Given the description of an element on the screen output the (x, y) to click on. 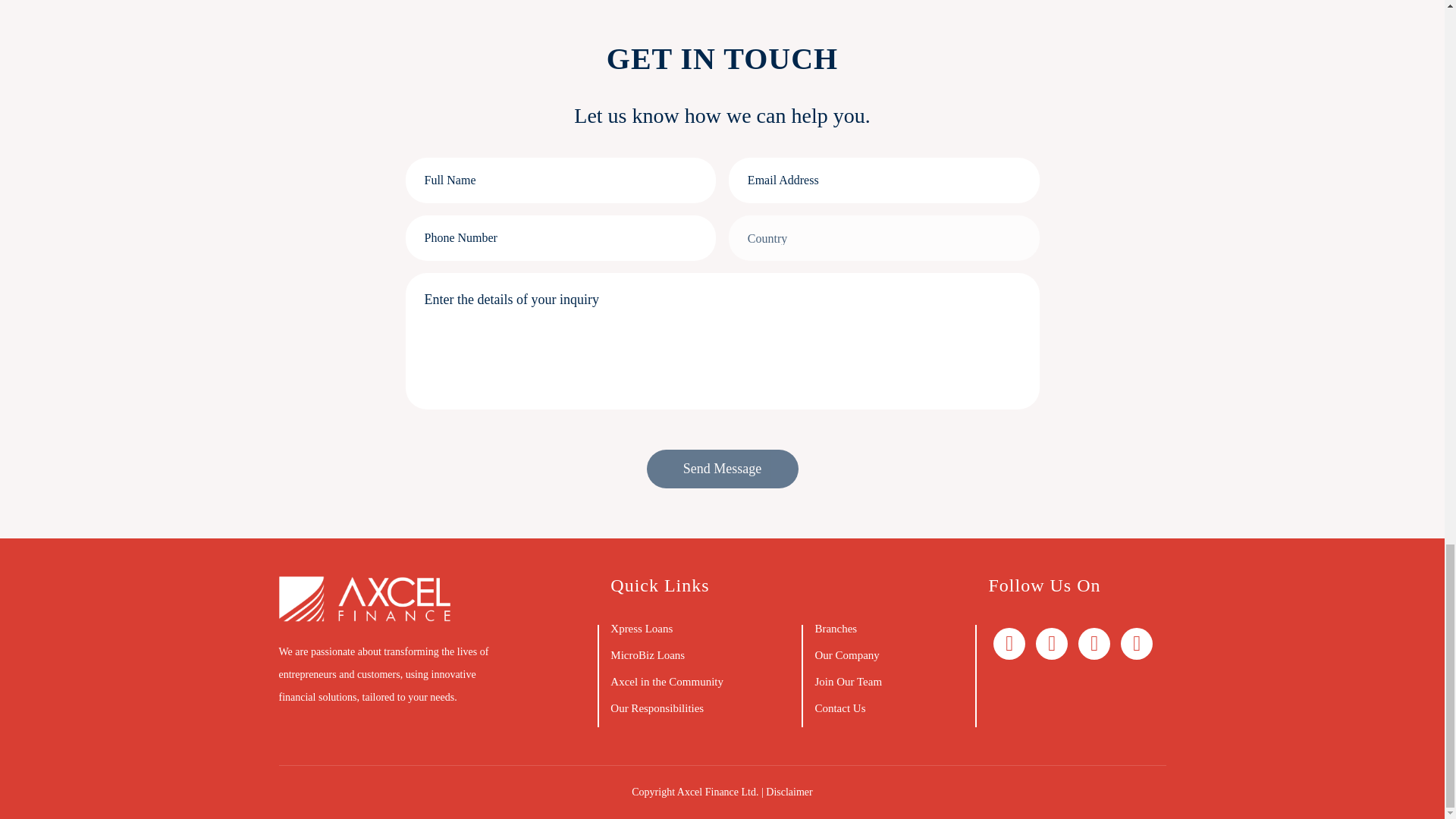
Send Message (721, 468)
Axcel in the Community (666, 681)
MicroBiz Loans (647, 654)
Send Message (721, 468)
Branches (835, 628)
Our Company (846, 654)
Contact Us (838, 707)
Disclaimer (788, 791)
Our Responsibilities (656, 707)
Join Our Team (847, 681)
